Given the description of an element on the screen output the (x, y) to click on. 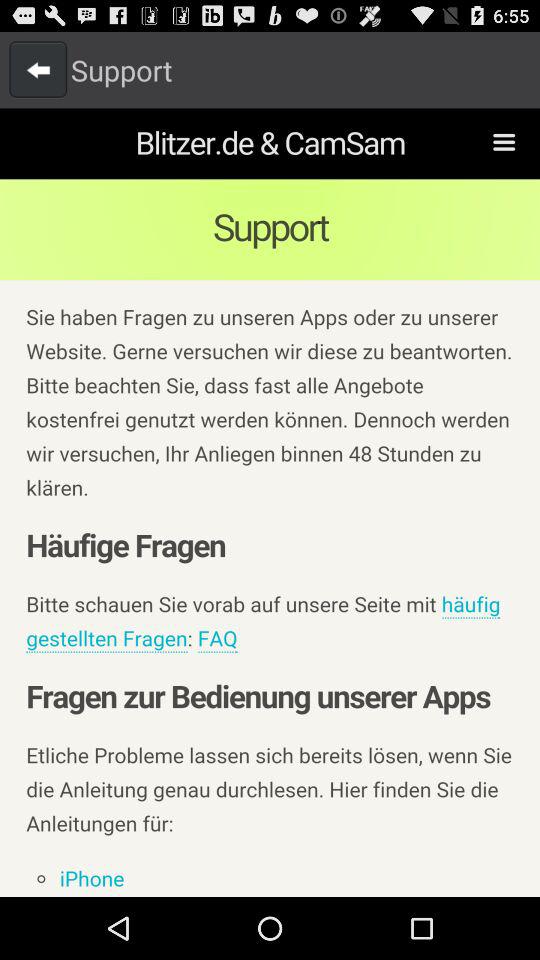
go to previous (38, 69)
